Given the description of an element on the screen output the (x, y) to click on. 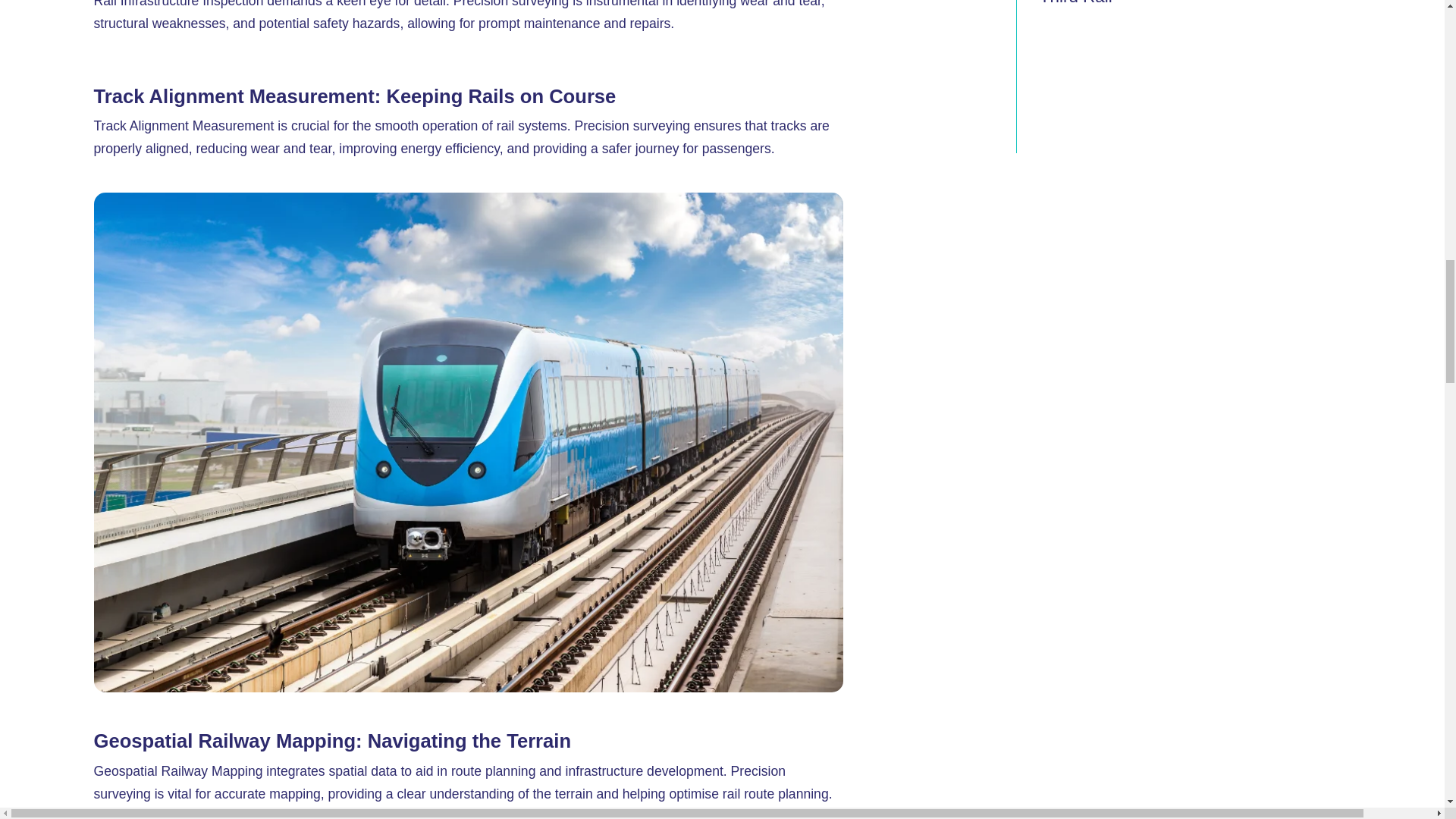
Third Rail (1075, 2)
